Given the description of an element on the screen output the (x, y) to click on. 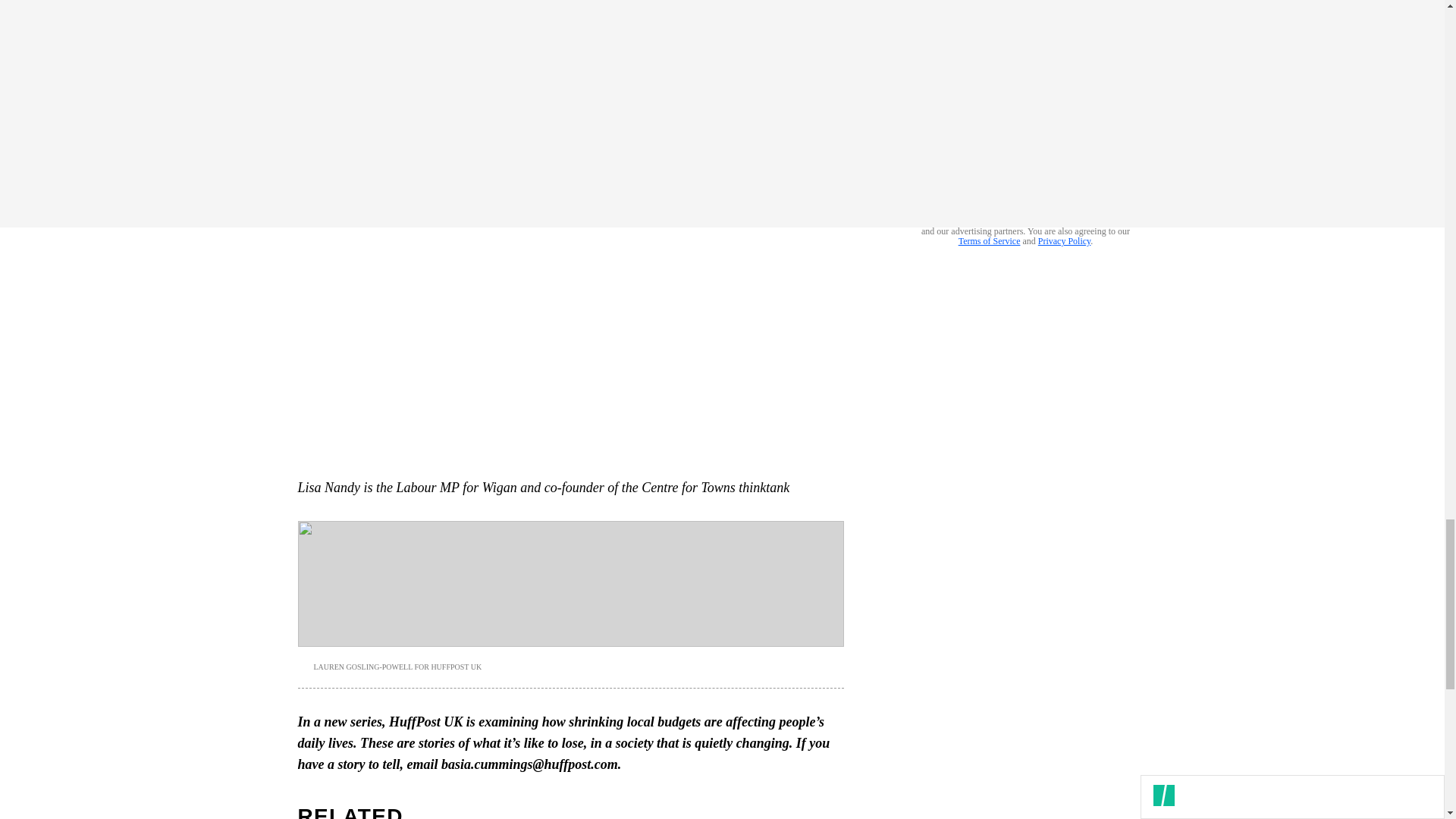
SIGN UP (1098, 180)
